Given the description of an element on the screen output the (x, y) to click on. 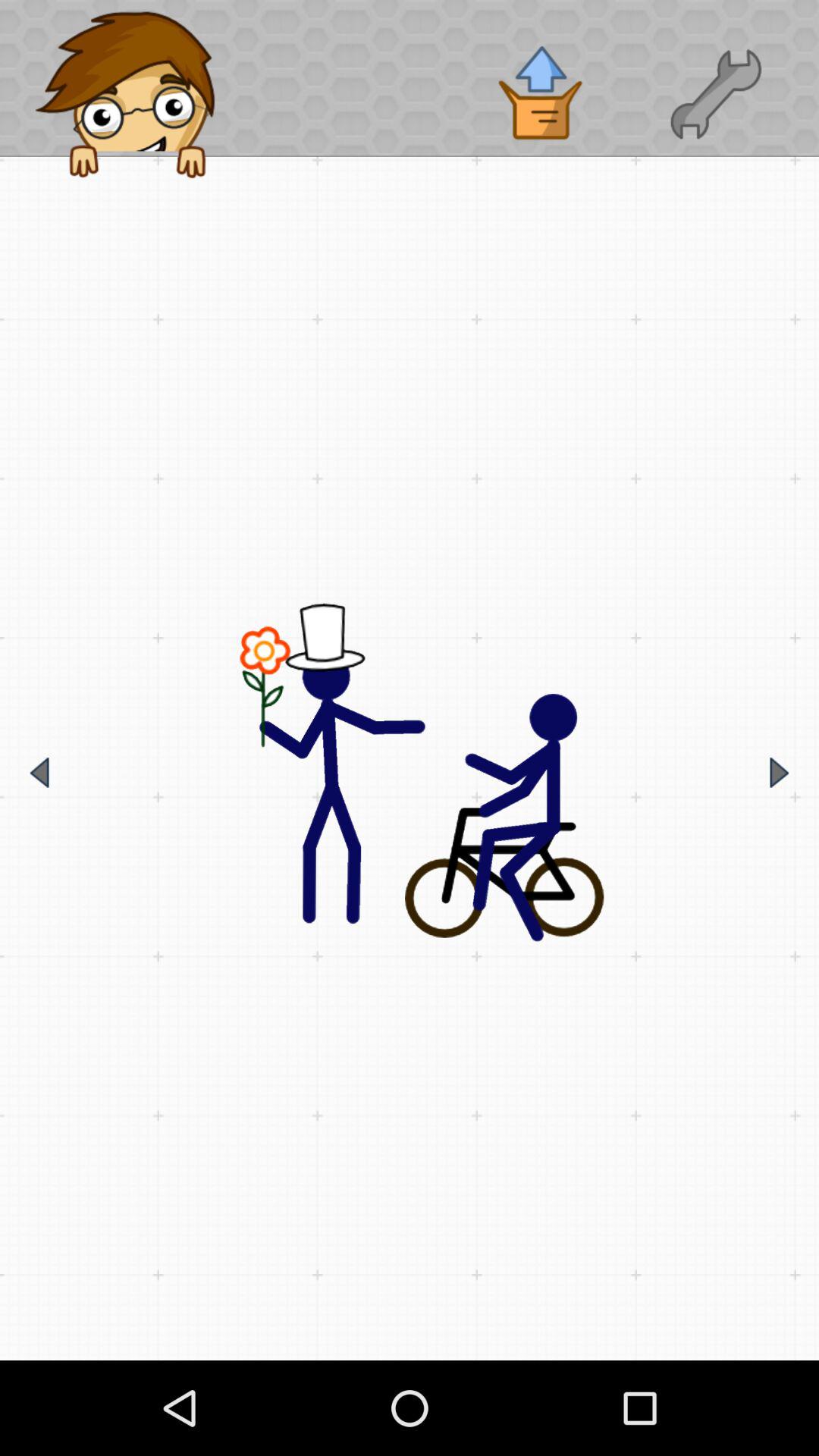
main image (409, 772)
